Given the description of an element on the screen output the (x, y) to click on. 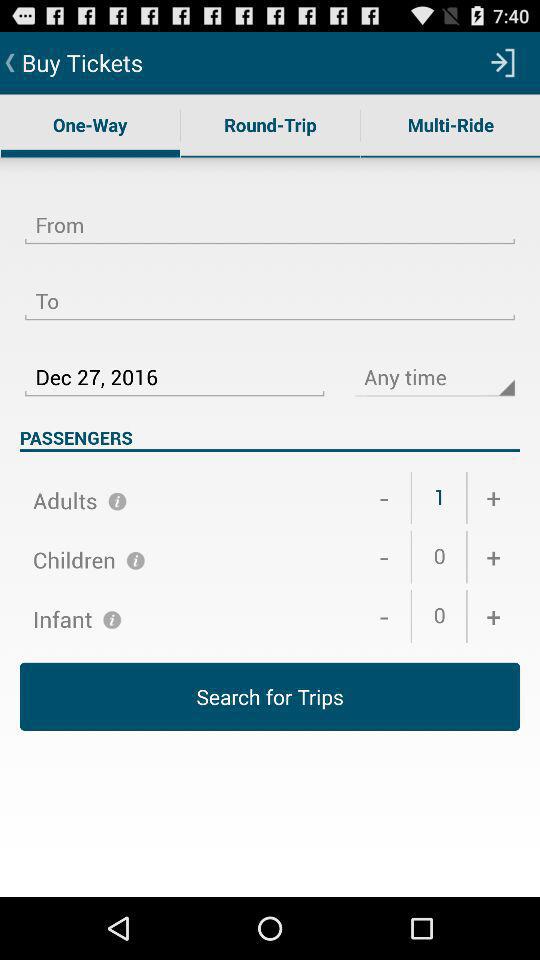
choose the item above the + (493, 557)
